Given the description of an element on the screen output the (x, y) to click on. 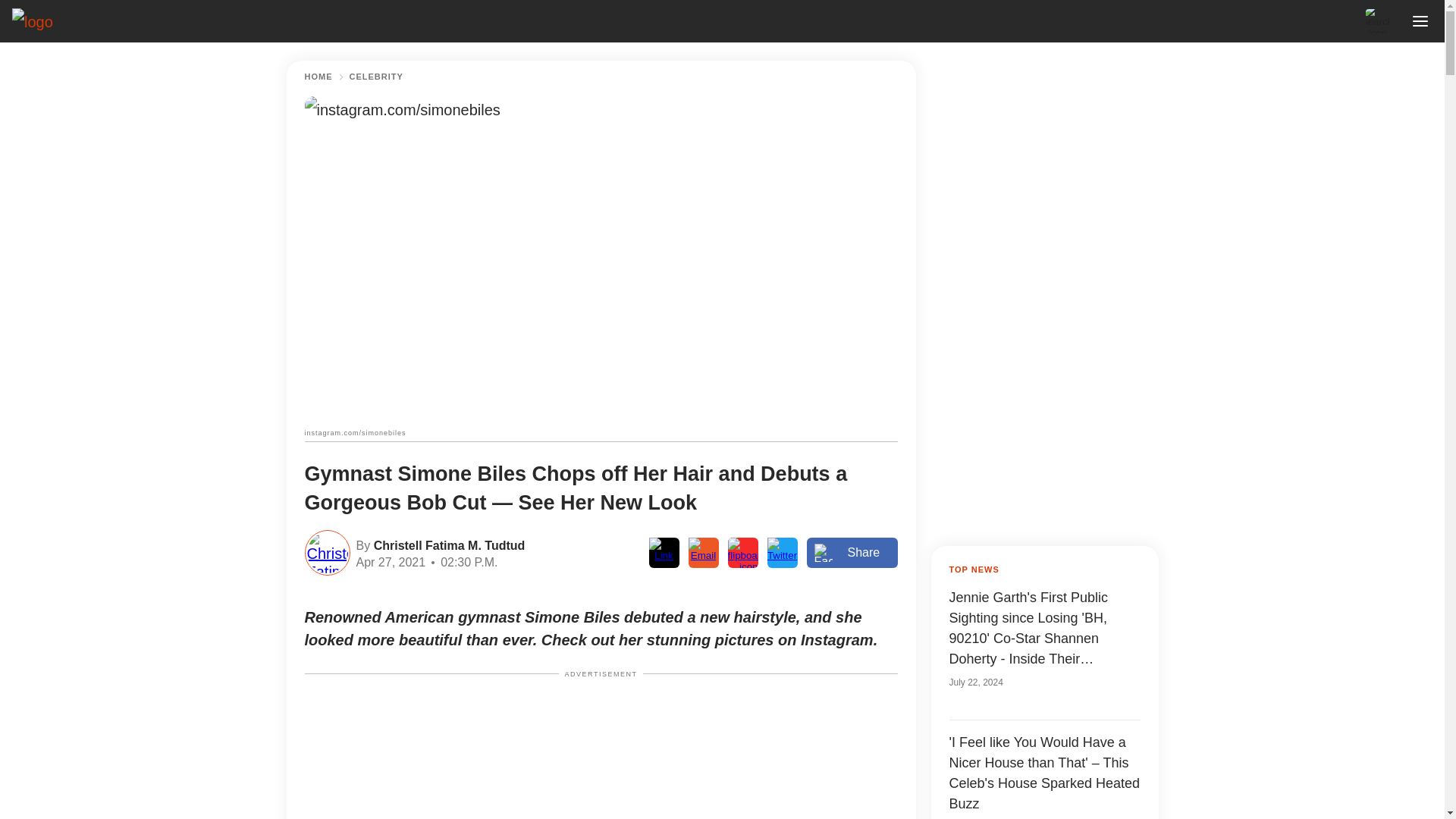
Christell Fatima M. Tudtud (446, 544)
HOME (318, 76)
CELEBRITY (376, 76)
